Given the description of an element on the screen output the (x, y) to click on. 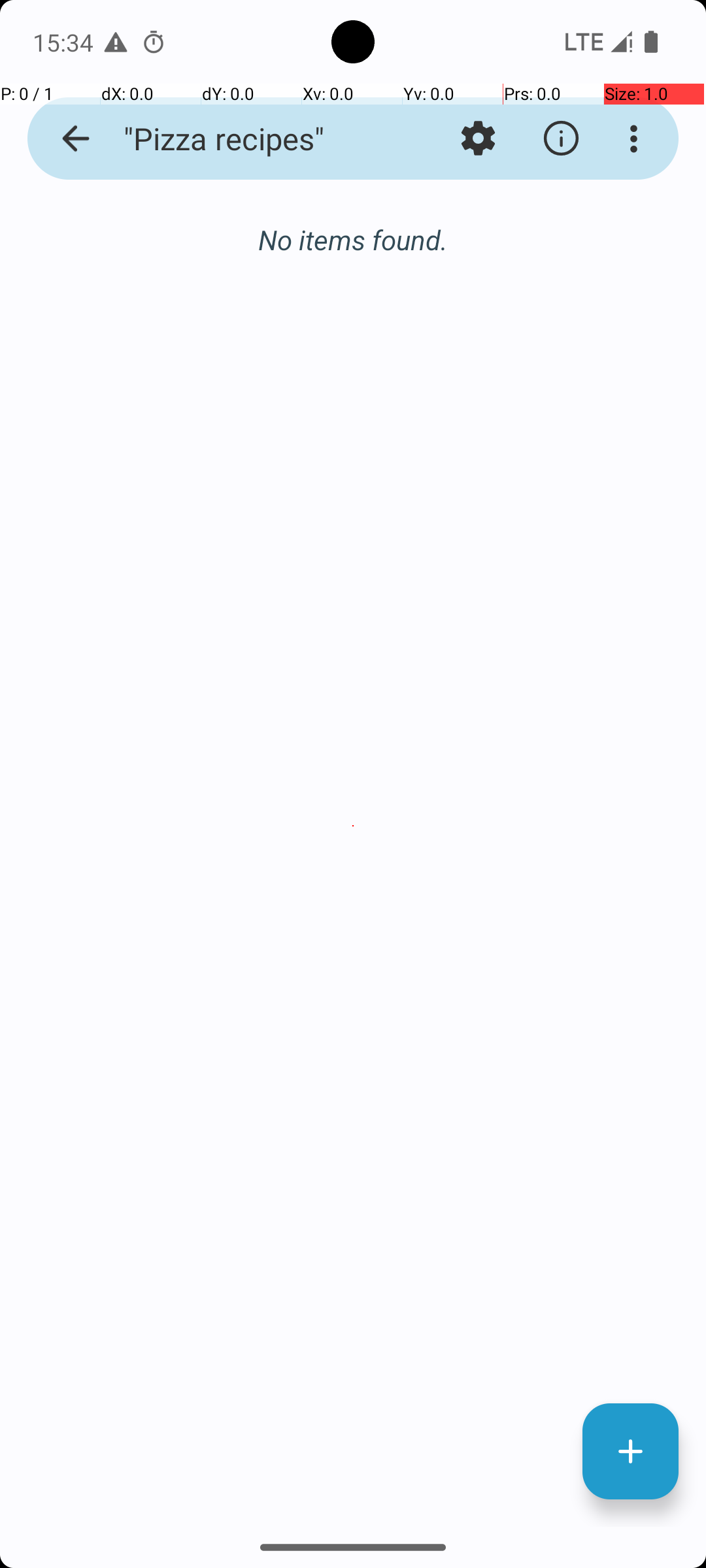
"Pizza recipes" Element type: android.widget.EditText (252, 138)
